Given the description of an element on the screen output the (x, y) to click on. 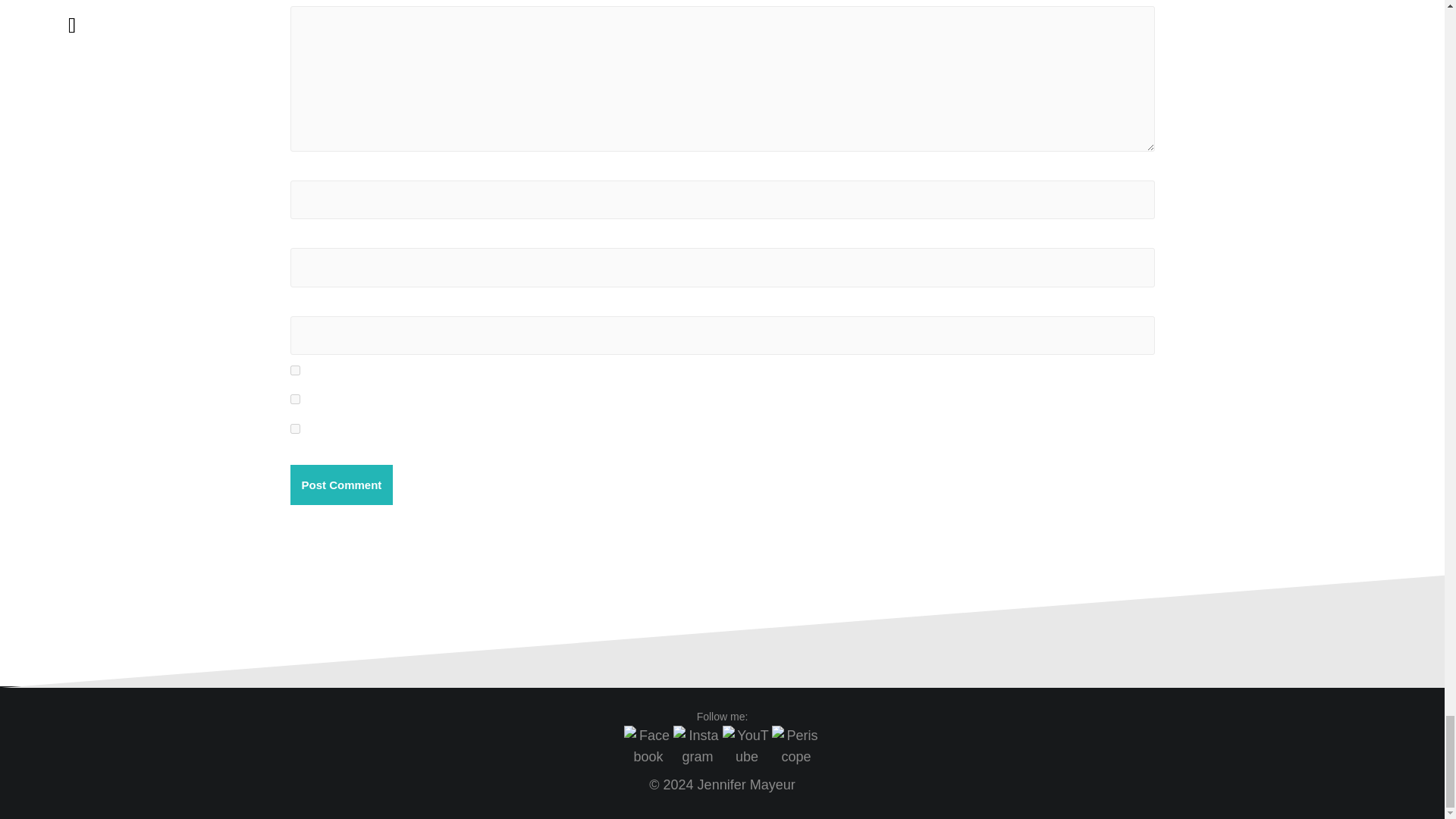
Periscope (796, 749)
Post Comment (341, 485)
subscribe (294, 429)
yes (294, 370)
YouTube (746, 749)
subscribe (294, 398)
Instagram (697, 749)
Facebook (647, 749)
